Given the description of an element on the screen output the (x, y) to click on. 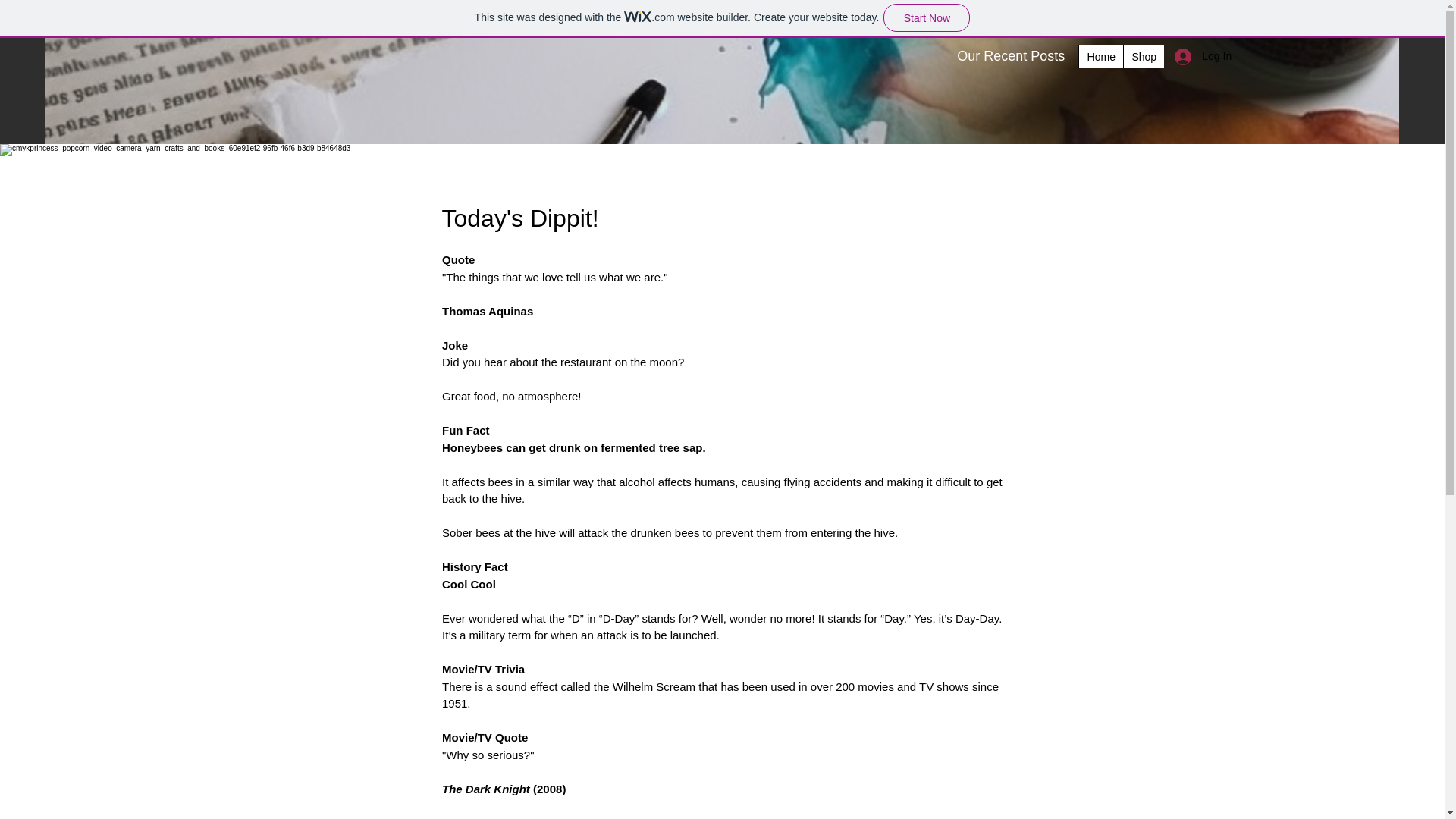
Home (1100, 56)
Log In (1185, 56)
Shop (1142, 56)
